Given the description of an element on the screen output the (x, y) to click on. 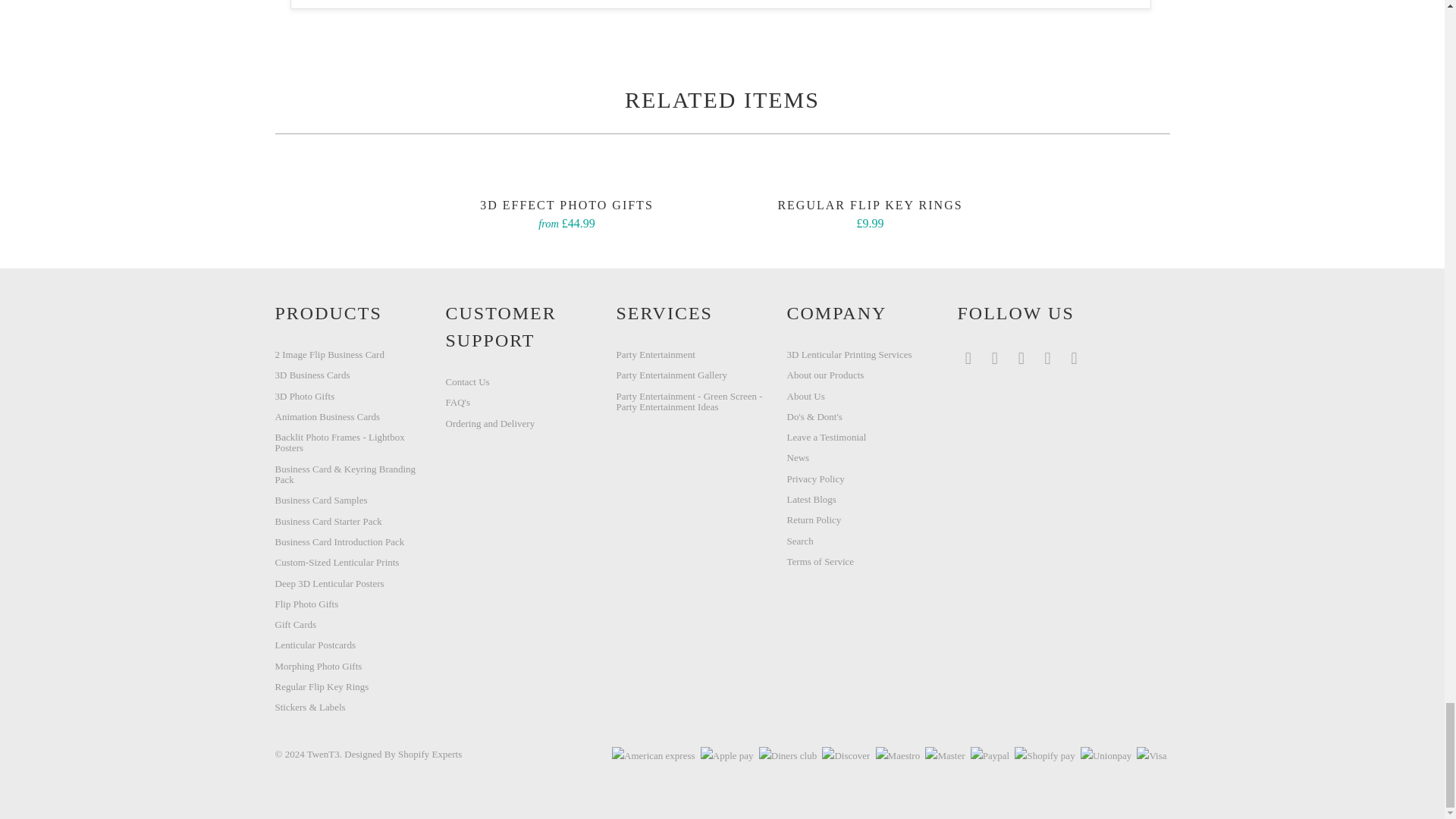
TwenT3 on Pinterest (1047, 358)
TwenT3 on YouTube (1021, 358)
TwenT3 on Twitter (967, 358)
TwenT3 on Facebook (995, 358)
